Given the description of an element on the screen output the (x, y) to click on. 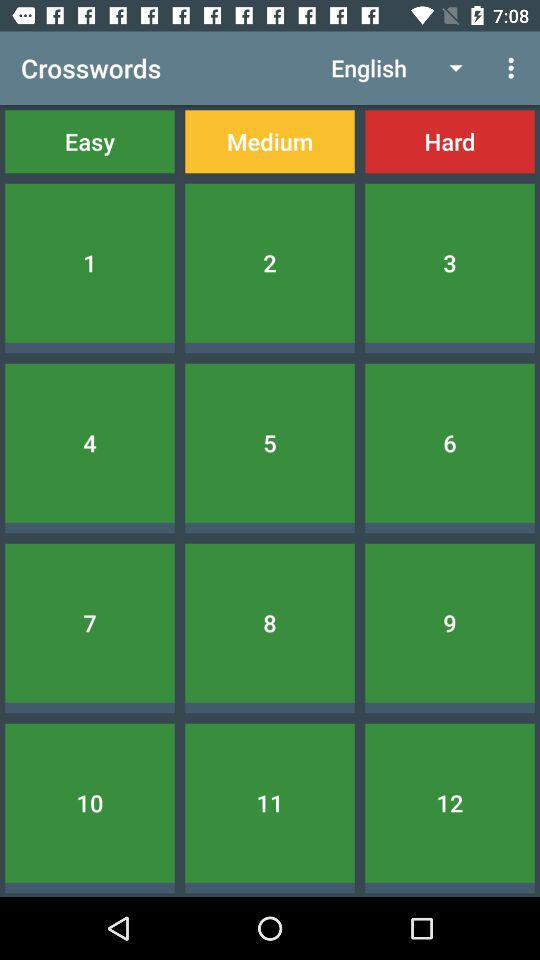
press the icon next to easy icon (269, 141)
